Given the description of an element on the screen output the (x, y) to click on. 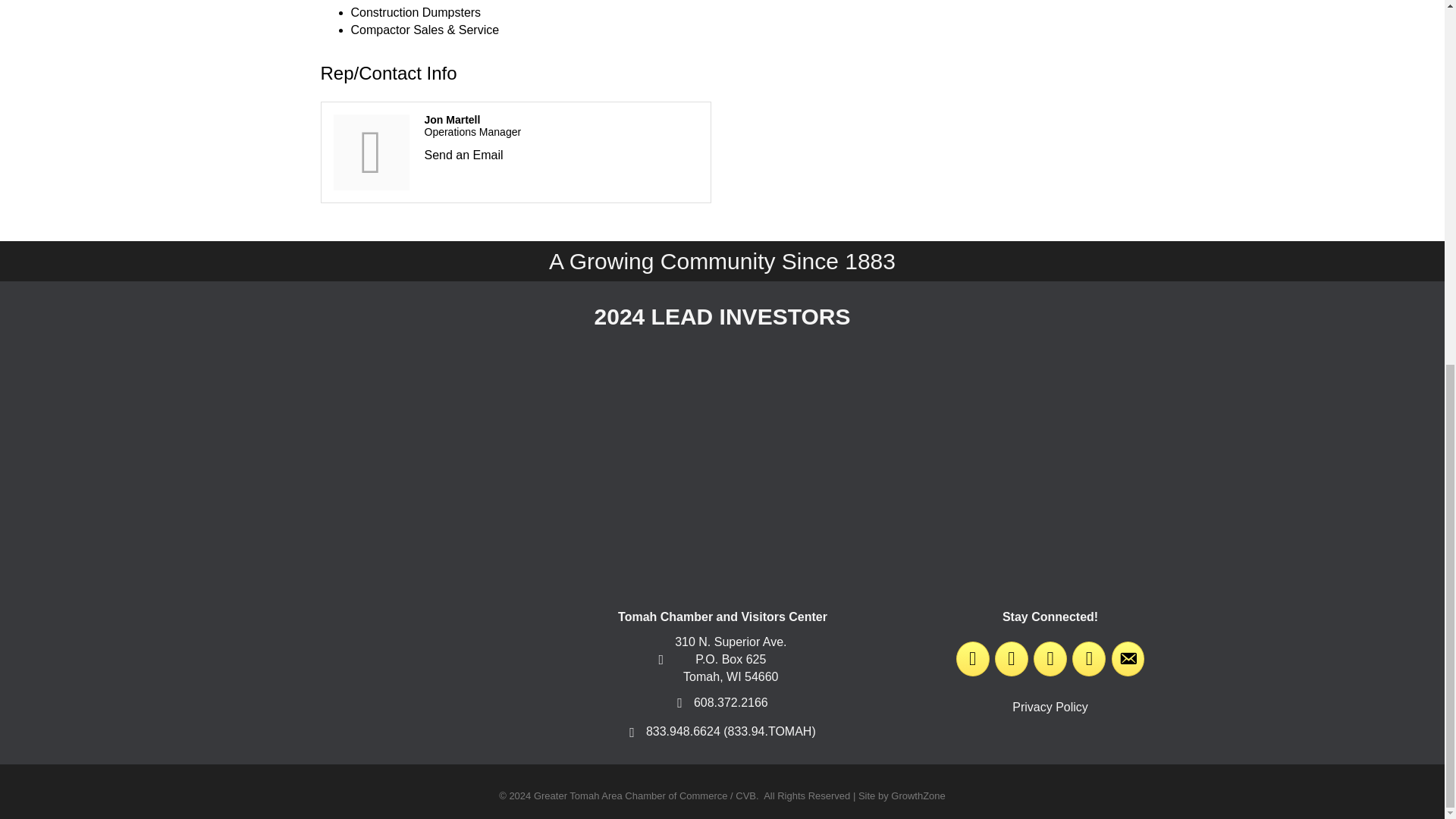
Tomah-Chamber-White-Logo (394, 662)
TomahHealth-Logo-color (721, 422)
bankfirstBLACK (421, 428)
Magnum Logo for Website (1021, 426)
